Given the description of an element on the screen output the (x, y) to click on. 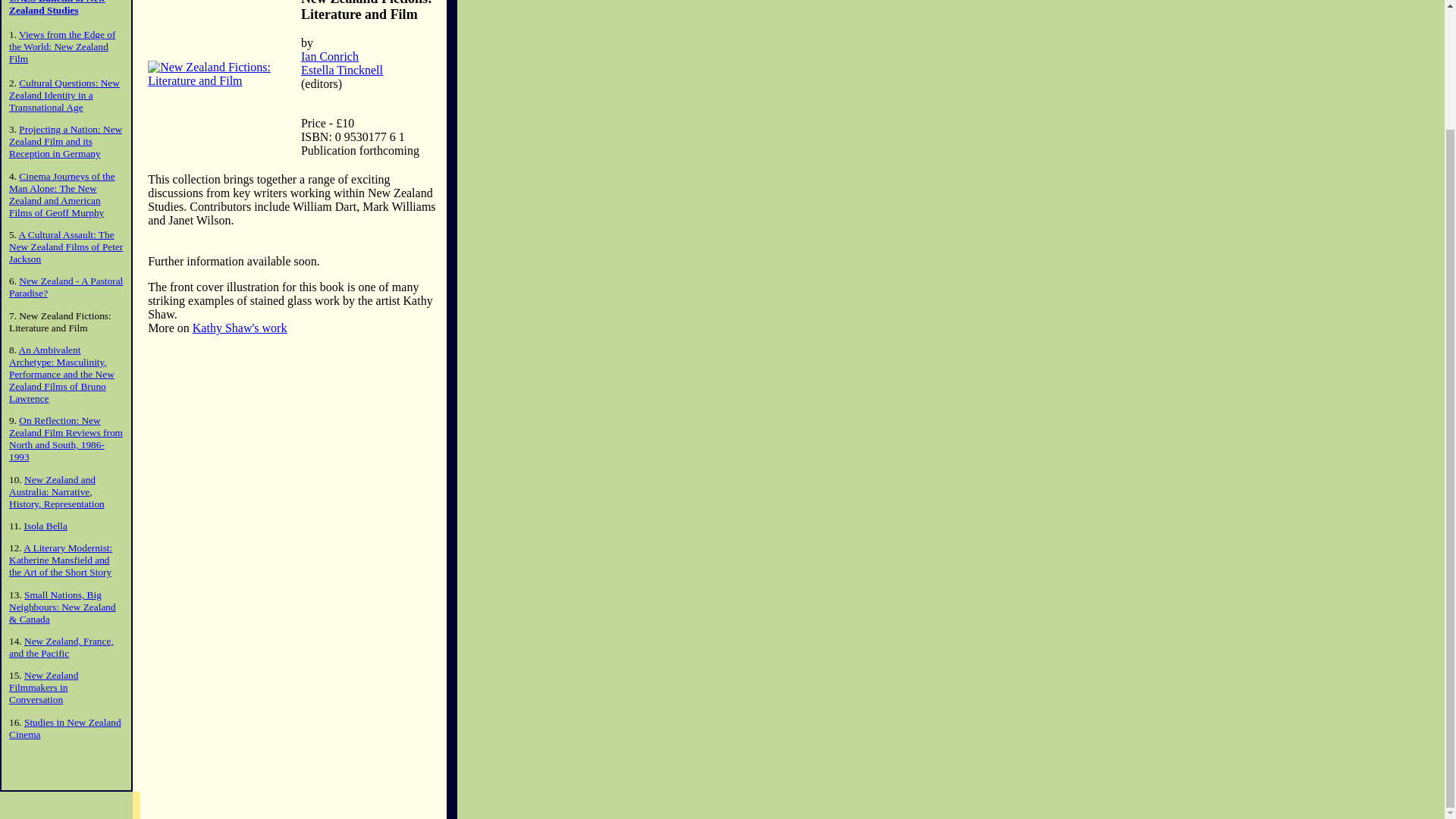
New Zealand - A Pastoral Paradise? (65, 286)
Estella Tincknell (341, 69)
Views from the Edge of the World: New Zealand Film (61, 46)
CNZS Bulletin of New Zealand Studies (56, 7)
Kathy Shaw's work (239, 327)
Studies in New Zealand Cinema (64, 728)
Ian Conrich (329, 56)
Isola Bella (45, 525)
New Zealand Filmmakers in Conversation (43, 687)
